Given the description of an element on the screen output the (x, y) to click on. 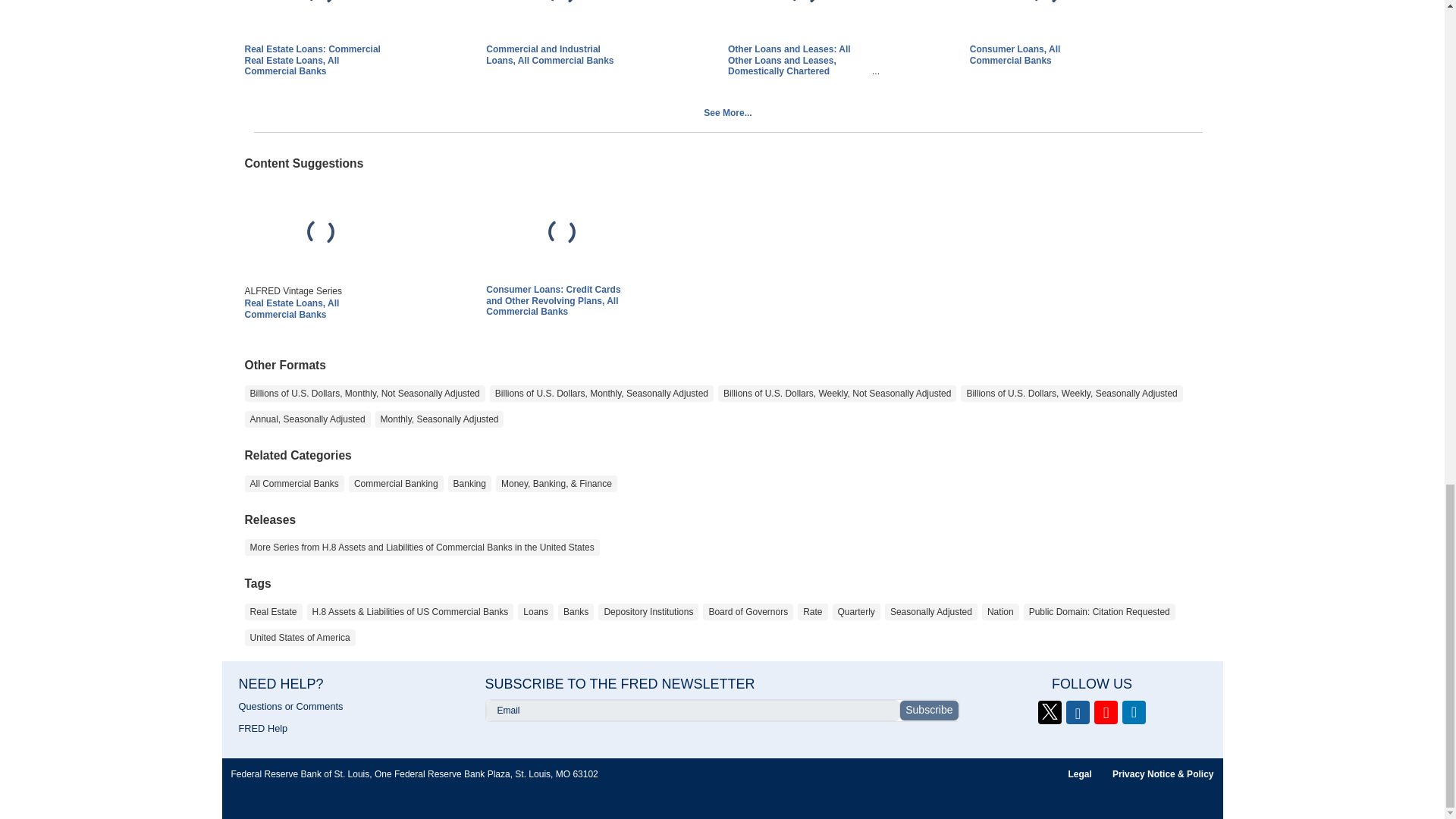
Consumer Loans, All Commercial Banks (1015, 54)
Commercial and Industrial Loans, All Commercial Banks (549, 54)
